Given the description of an element on the screen output the (x, y) to click on. 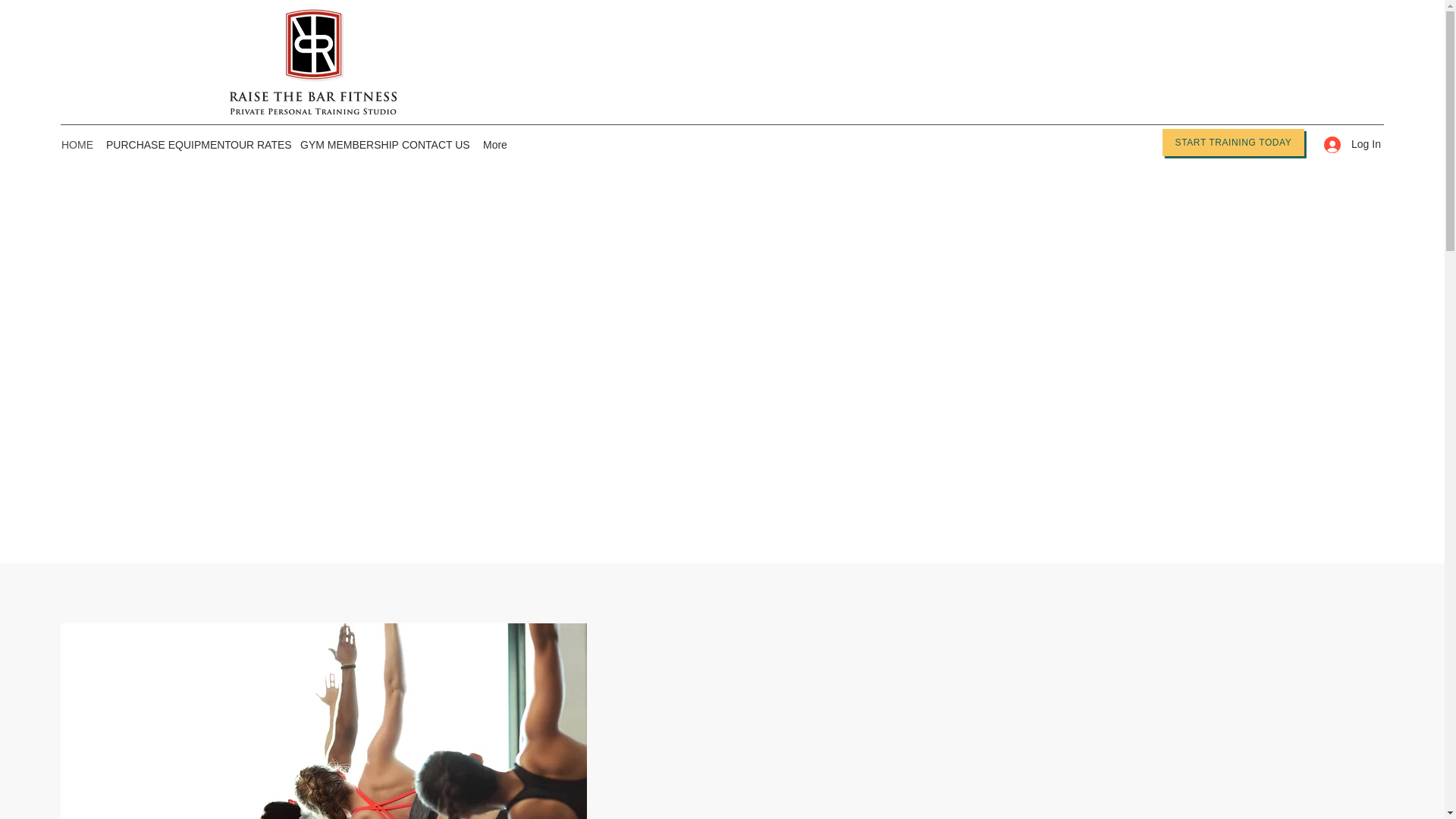
GYM MEMBERSHIP (343, 144)
PURCHASE EQUIPMENT (160, 144)
OUR RATES (257, 144)
CONTACT US (435, 144)
Log In (1347, 144)
START TRAINING TODAY (1232, 142)
HOME (76, 144)
